Given the description of an element on the screen output the (x, y) to click on. 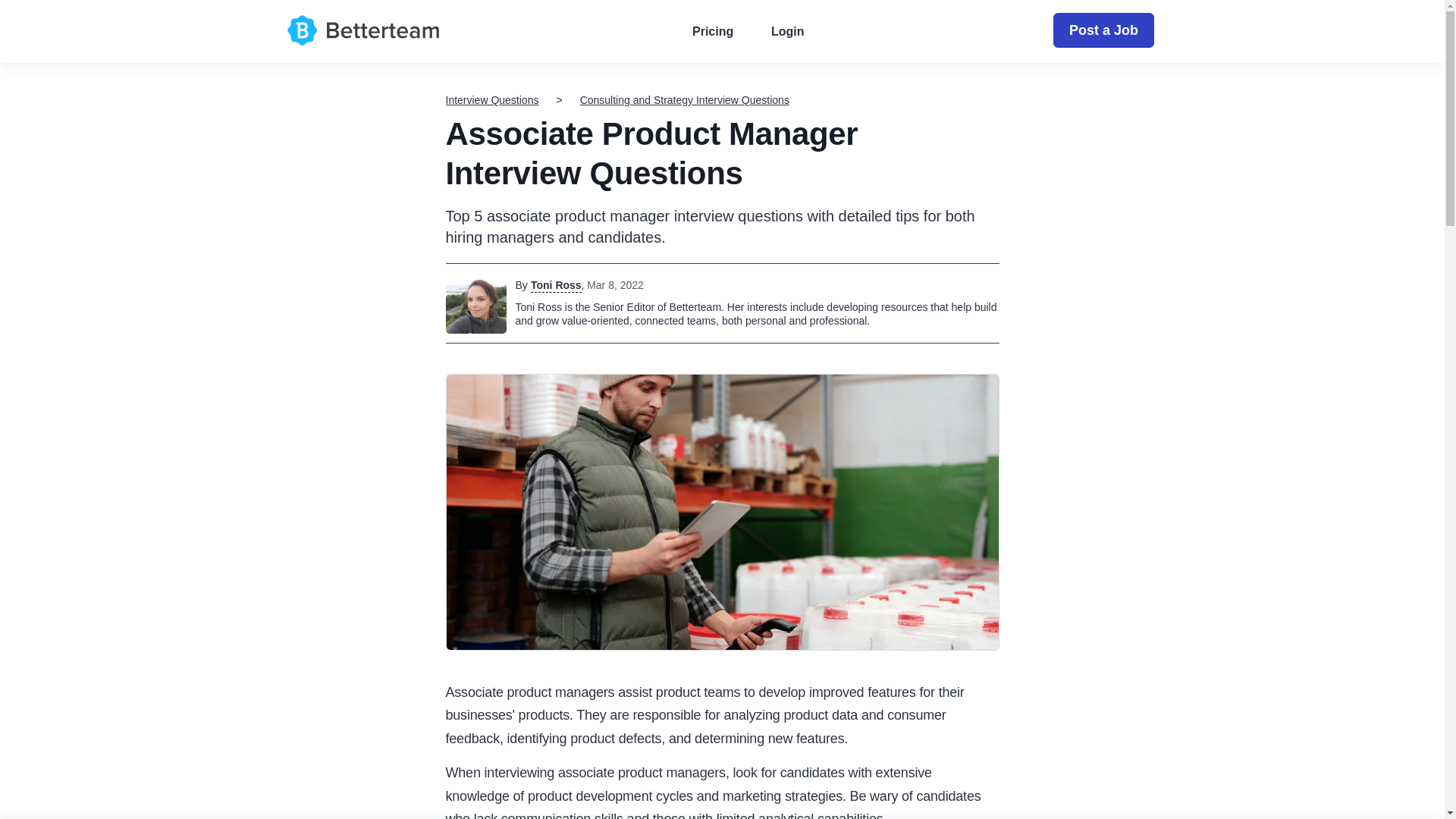
Login (787, 31)
Post a Job (1103, 30)
Toni Ross (555, 285)
Interview Questions (491, 100)
Consulting and Strategy Interview Questions (684, 100)
Pricing (712, 31)
